Given the description of an element on the screen output the (x, y) to click on. 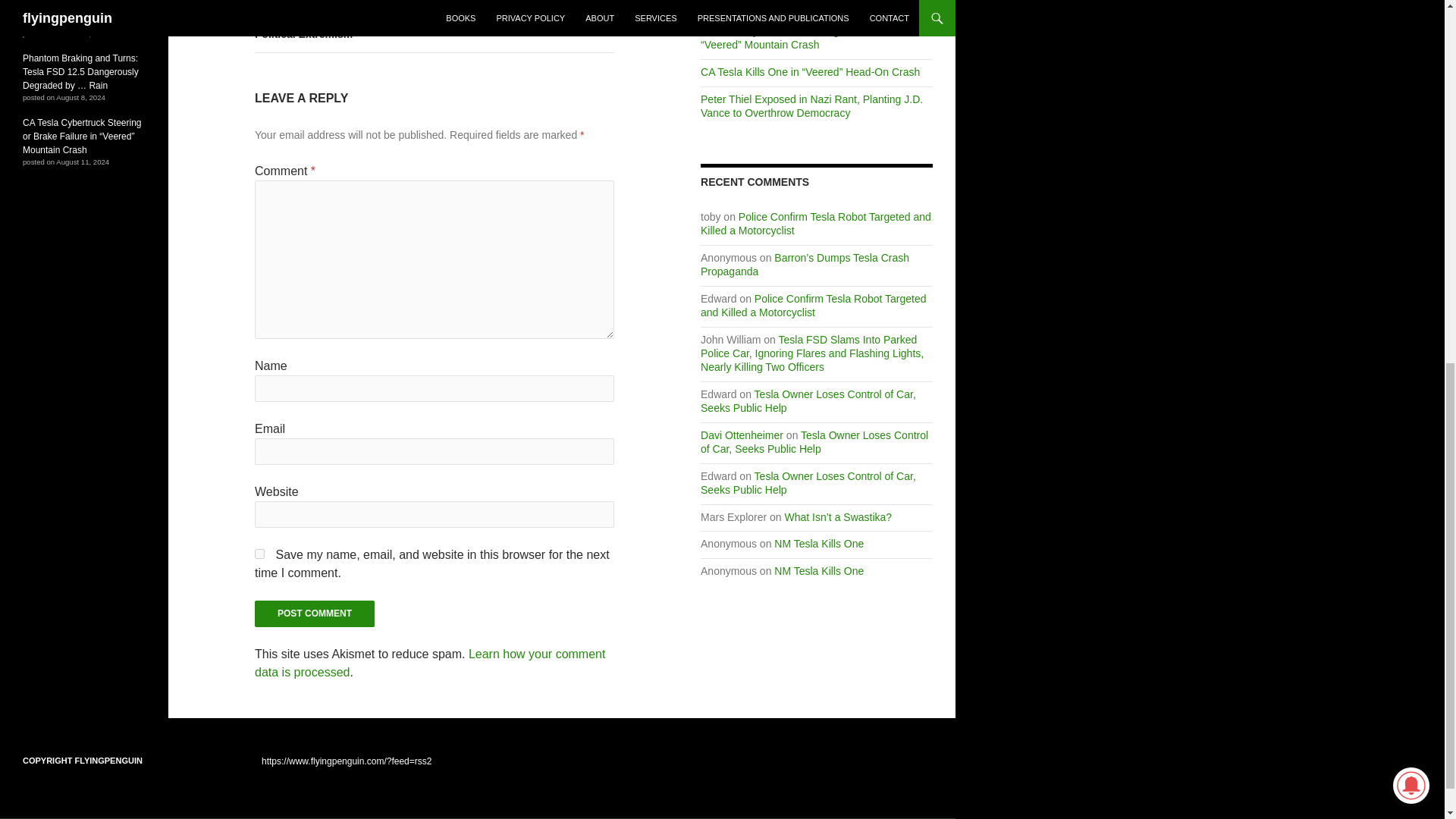
Post Comment (314, 613)
Davi Ottenheimer (741, 435)
Tesla Owner Loses Control of Car, Seeks Public Help (814, 442)
FL Tesla Kills Two in Intersection Crash (792, 4)
Tesla Owner Loses Control of Car, Seeks Public Help (807, 483)
Learn how your comment data is processed (429, 662)
